Given the description of an element on the screen output the (x, y) to click on. 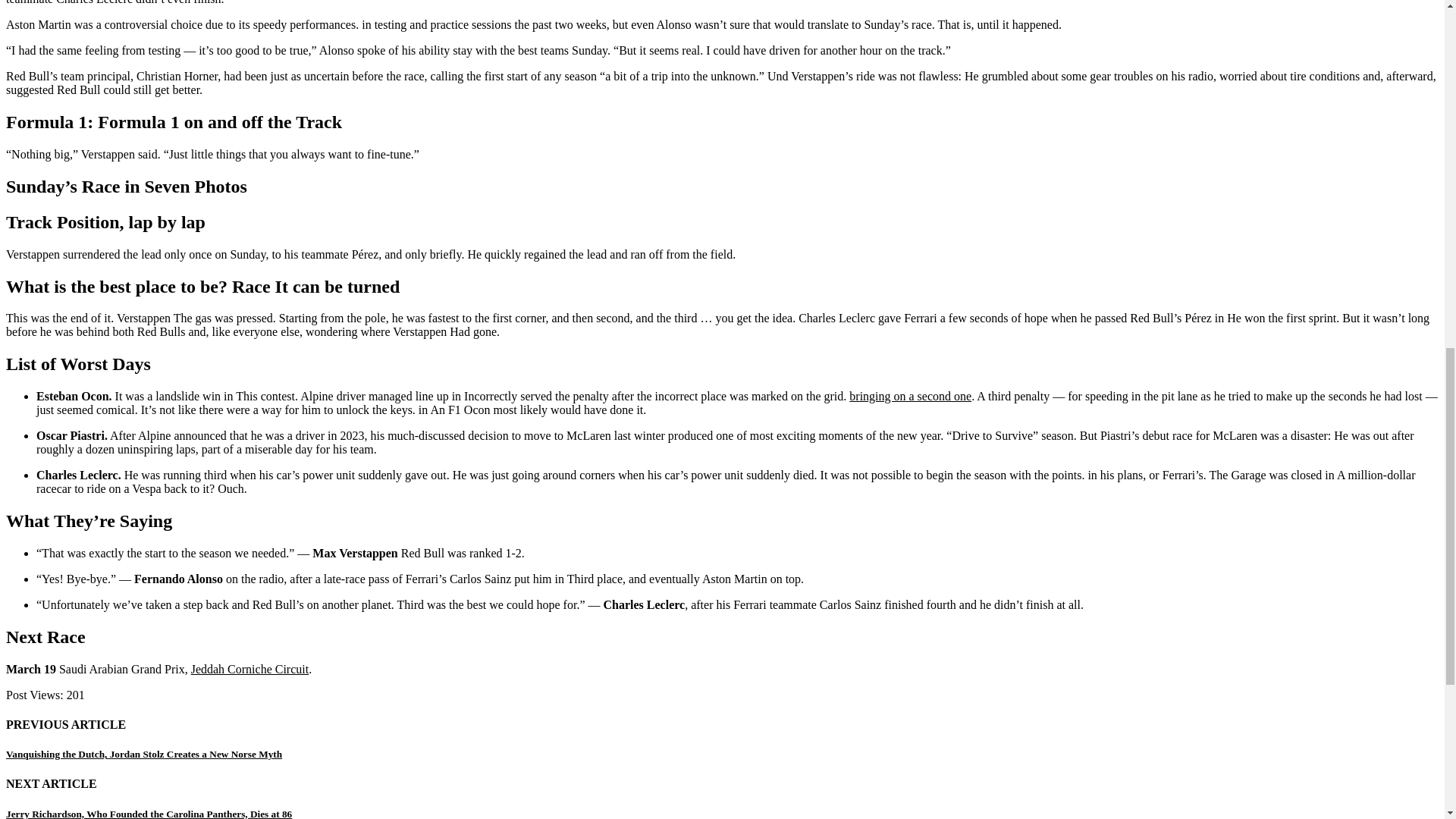
Jeddah Corniche Circuit (249, 668)
bringing on a second one (909, 395)
Vanquishing the Dutch, Jordan Stolz Creates a New Norse Myth (143, 754)
